Given the description of an element on the screen output the (x, y) to click on. 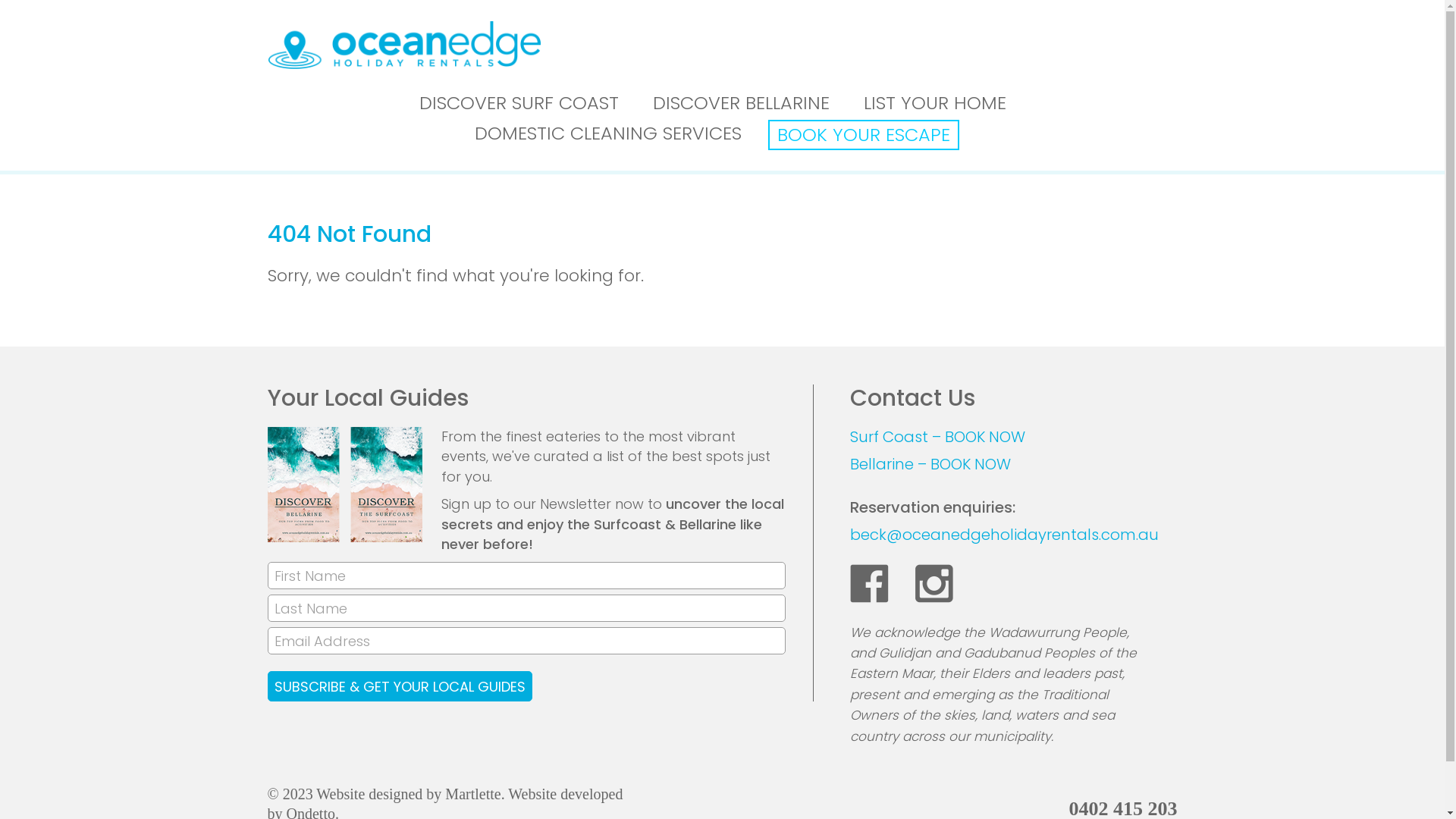
BOOK YOUR ESCAPE Element type: text (862, 134)
DISCOVER BELLARINE Element type: text (741, 104)
beck@oceanedgeholidayrentals.com.au Element type: text (1003, 534)
DISCOVER SURF COAST Element type: text (518, 104)
Subscribe & Get Your Local Guides Element type: text (398, 686)
DOMESTIC CLEANING SERVICES Element type: text (608, 134)
LIST YOUR HOME Element type: text (934, 104)
